Given the description of an element on the screen output the (x, y) to click on. 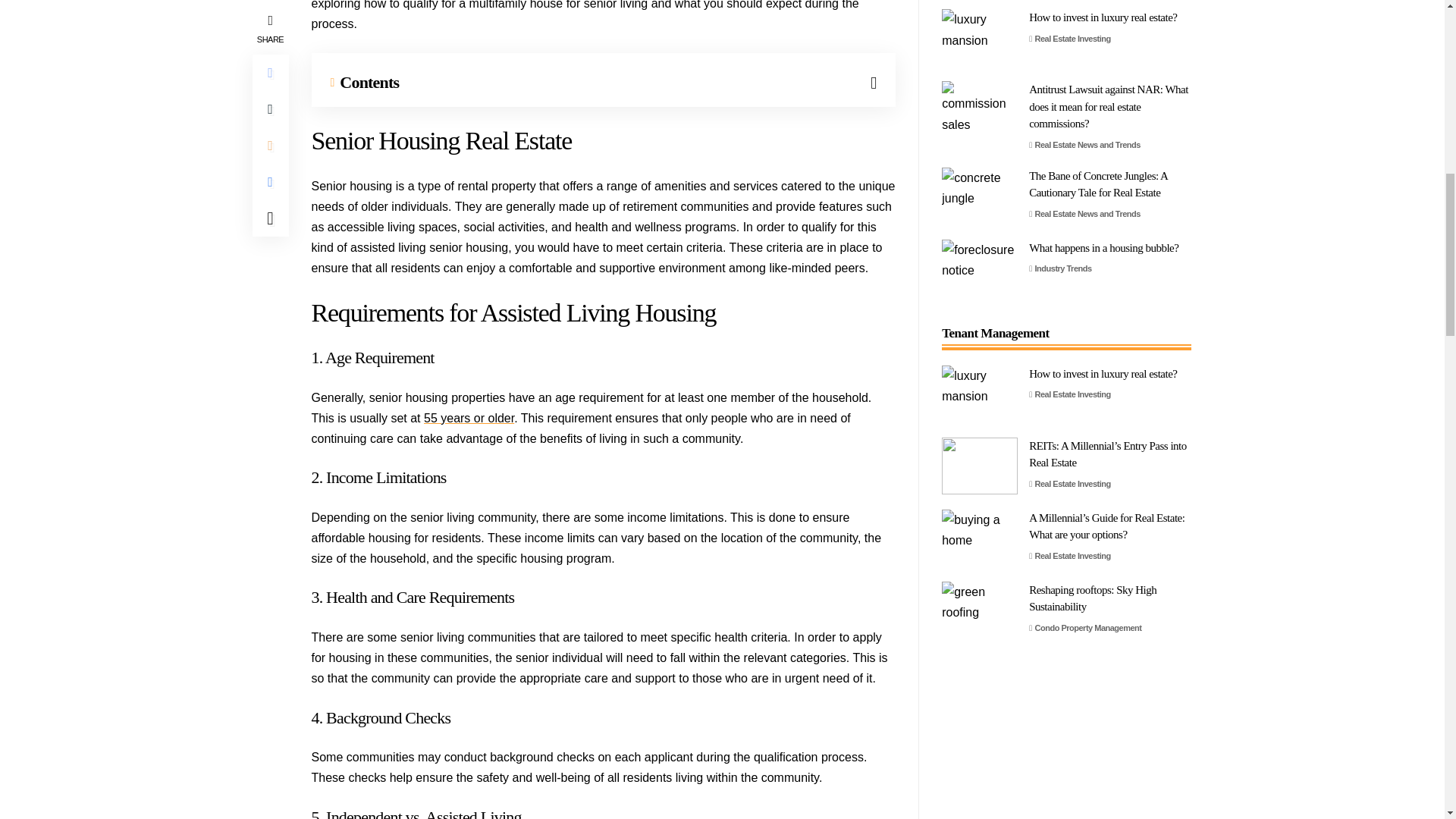
How to invest in luxury real estate? (979, 294)
Reshaping rooftops: Sky High Sustainability (979, 511)
What happens in a housing bubble? (979, 169)
